Given the description of an element on the screen output the (x, y) to click on. 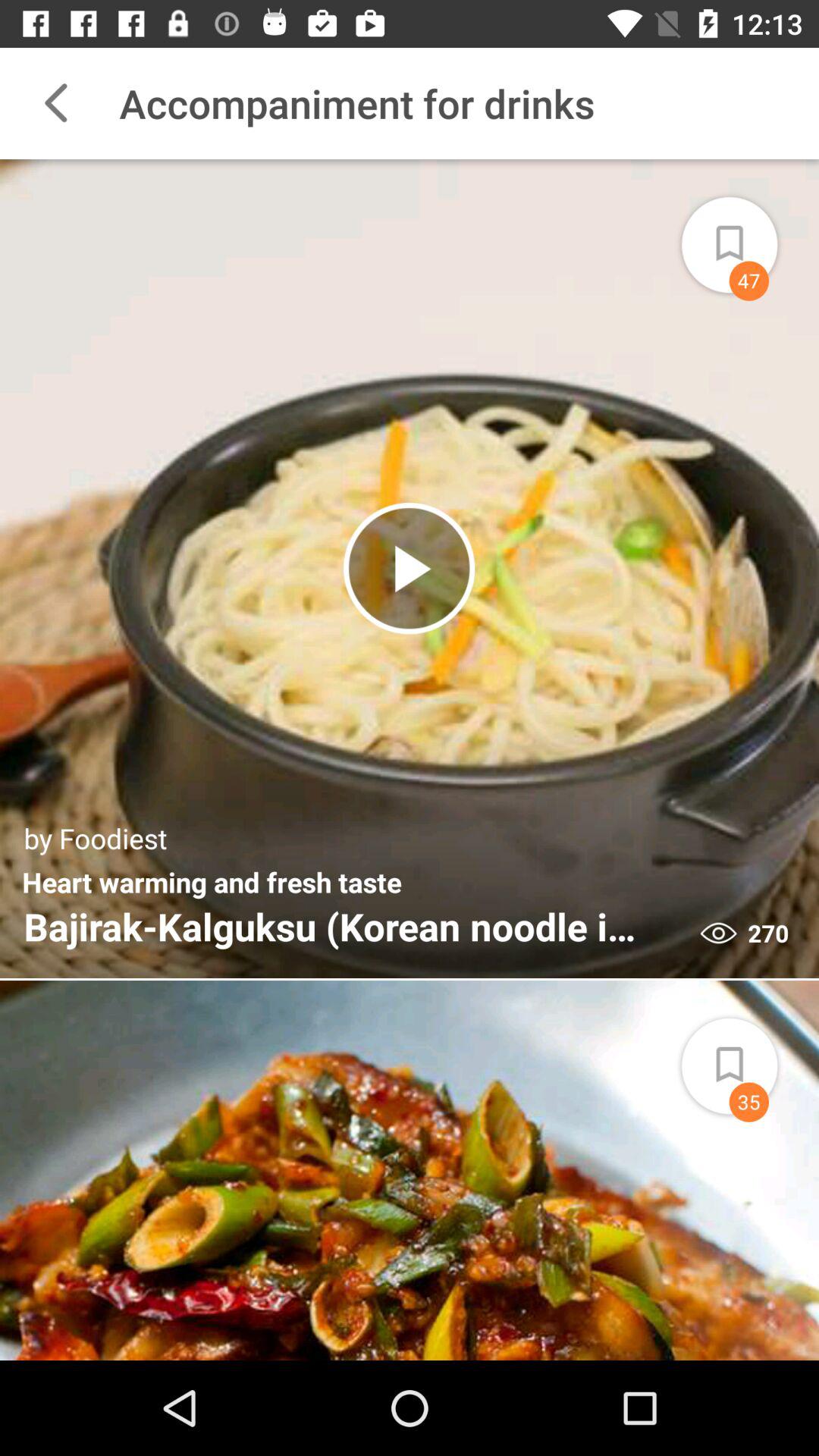
tap the icon to the left of the accompaniment for drinks item (55, 103)
